Given the description of an element on the screen output the (x, y) to click on. 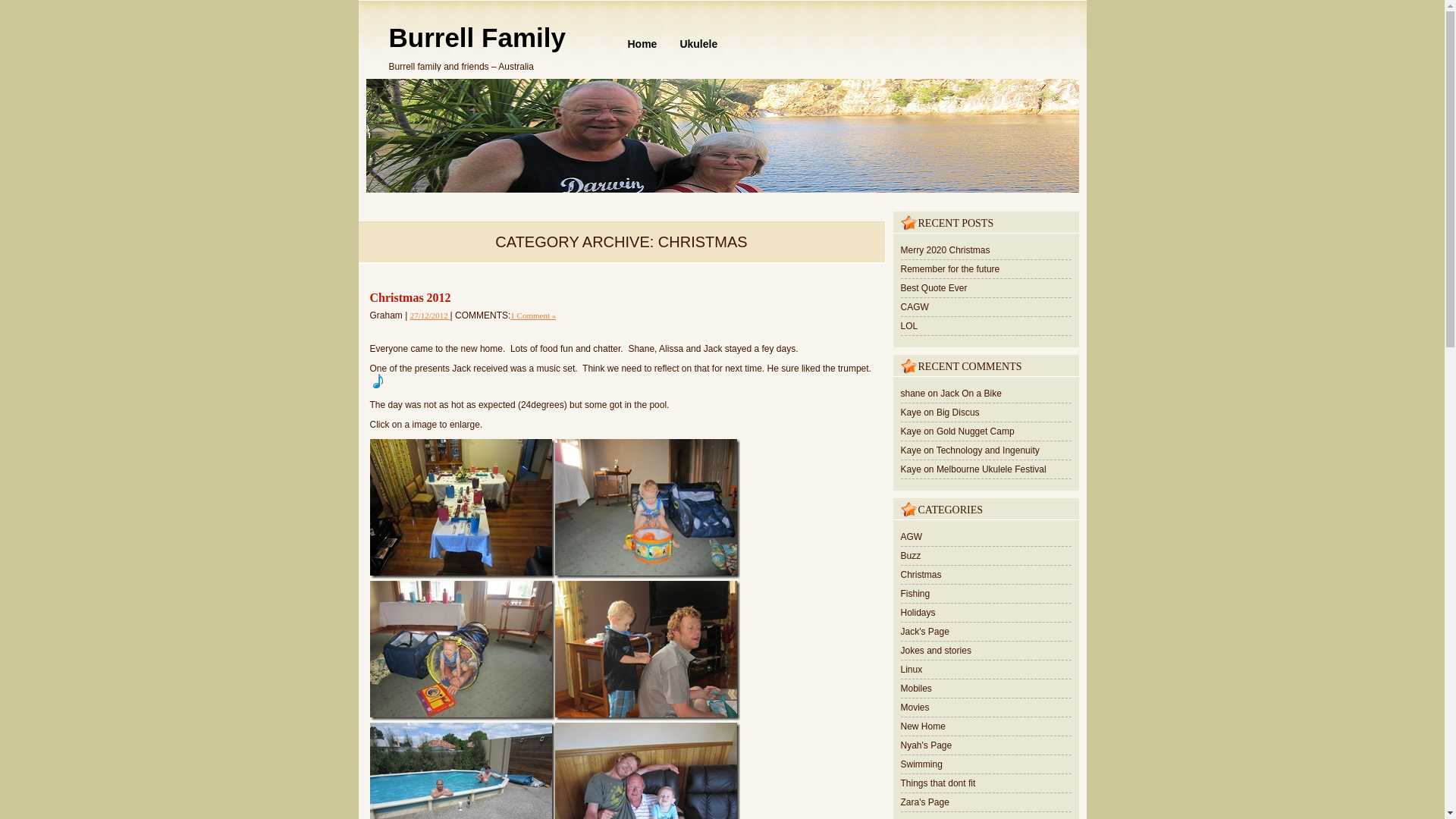
Kaye (911, 450)
CAGW (914, 307)
Kaye (911, 412)
Christmas 2012 (410, 297)
Gold Nugget Camp (975, 430)
Home (641, 44)
Ukulele (698, 44)
Best Quote Ever (934, 287)
Jack On a Bike (970, 393)
Technology and Ingenuity (987, 450)
Christmas 2012 (429, 315)
Melbourne Ukulele Festival (991, 469)
Kaye (911, 430)
LOL (909, 326)
Christmas 2012 (410, 297)
